Given the description of an element on the screen output the (x, y) to click on. 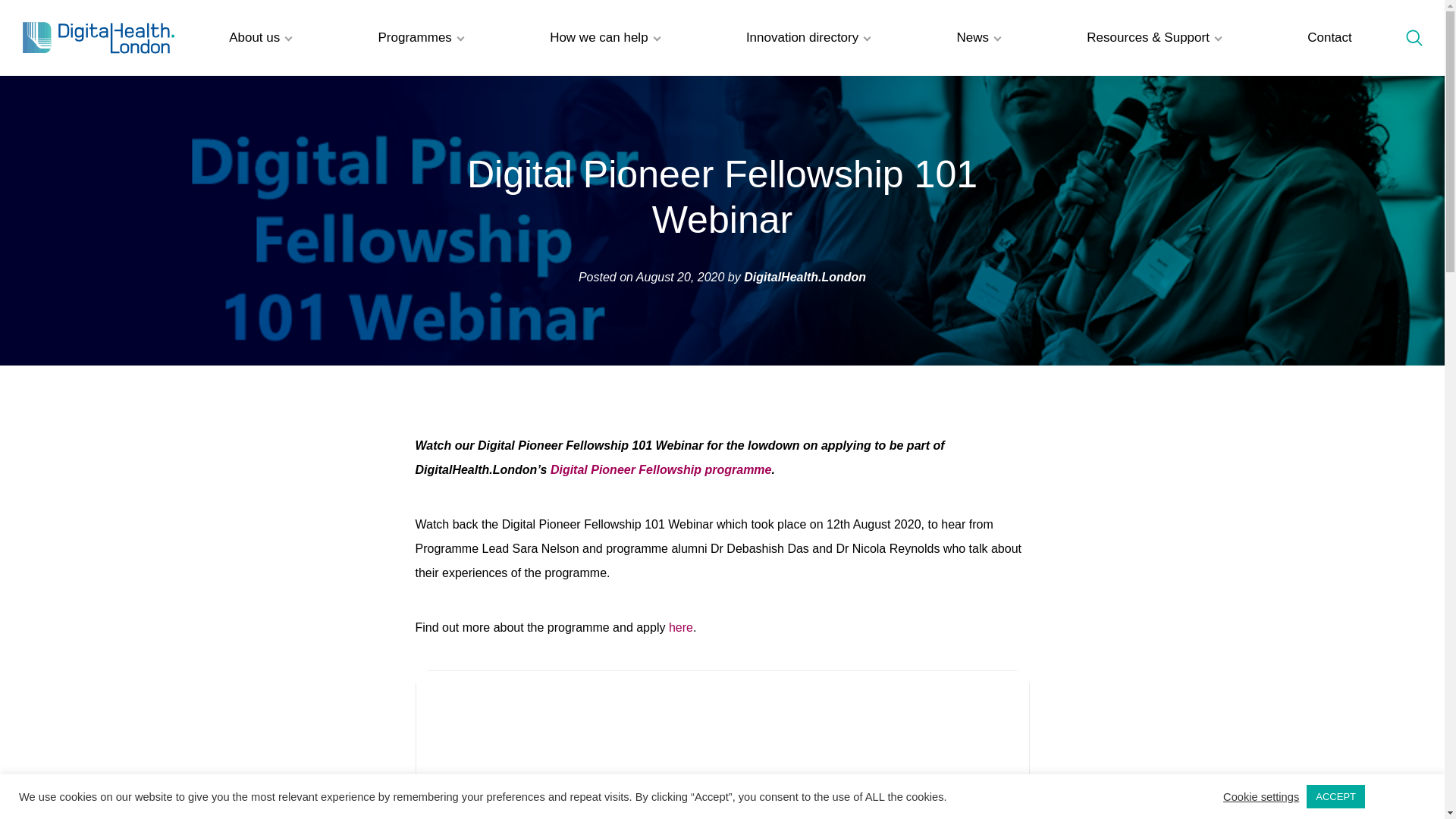
here (680, 626)
Digital Pioneer Fellowship programme (660, 469)
Search site (1413, 37)
About us (259, 38)
News (977, 38)
DigitalHealth.London (98, 37)
Innovation directory (807, 38)
Programmes (420, 38)
Digital Pioneer Fellowship 101 Webinar (721, 744)
How we can help (603, 38)
Contact (1328, 38)
